Given the description of an element on the screen output the (x, y) to click on. 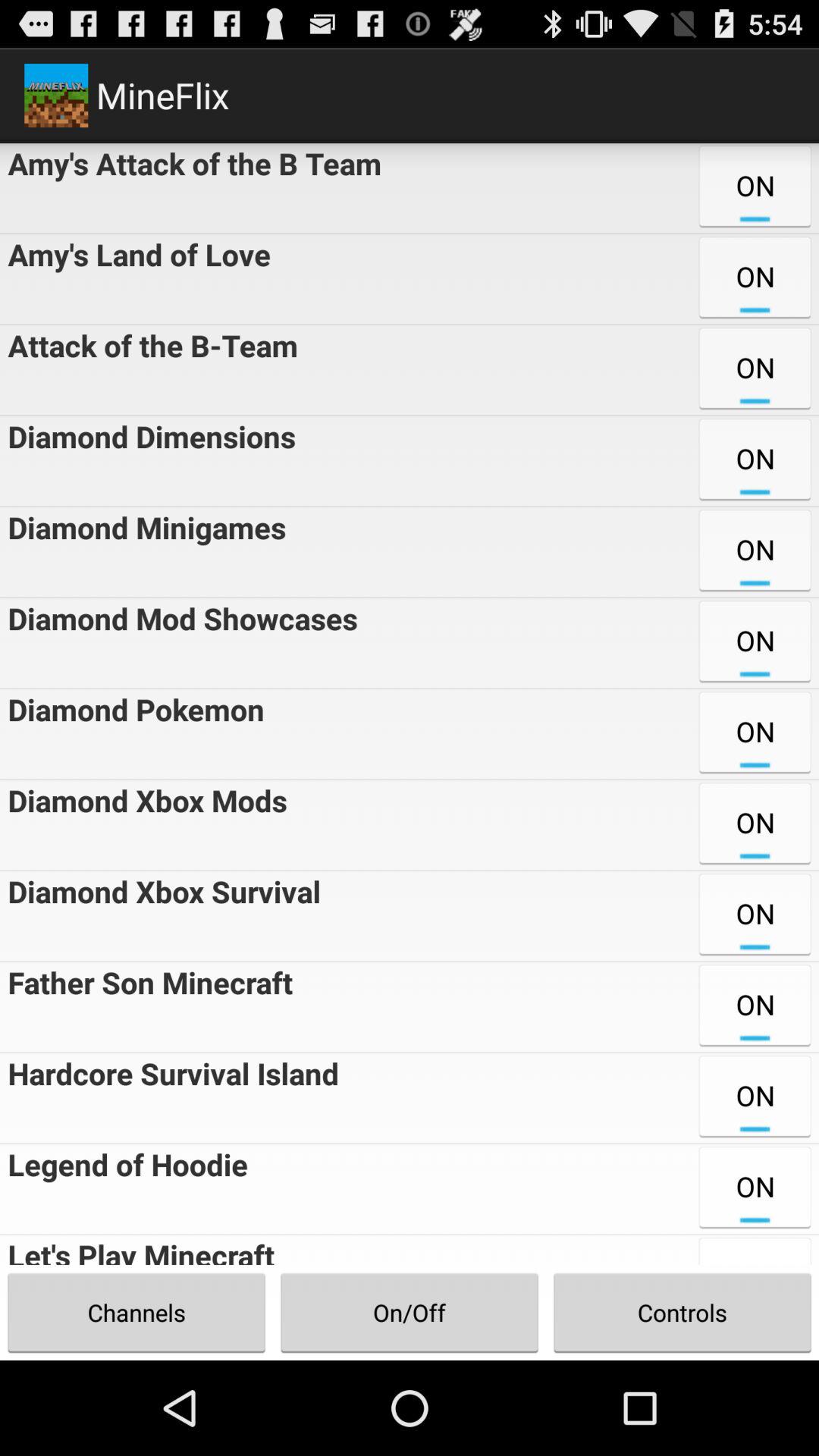
select the item below the let s play item (136, 1312)
